Given the description of an element on the screen output the (x, y) to click on. 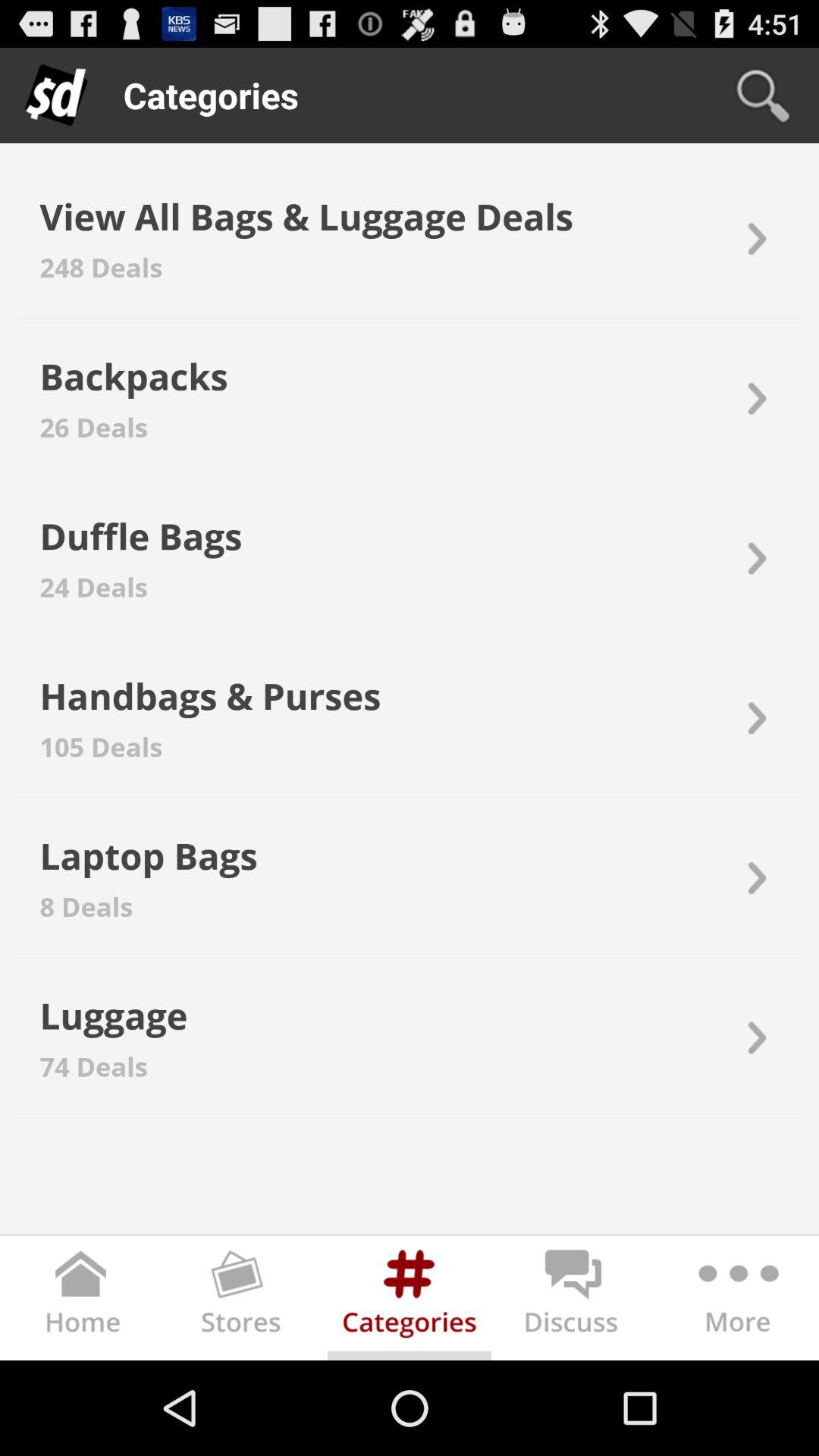
open the categories button (409, 1301)
